Given the description of an element on the screen output the (x, y) to click on. 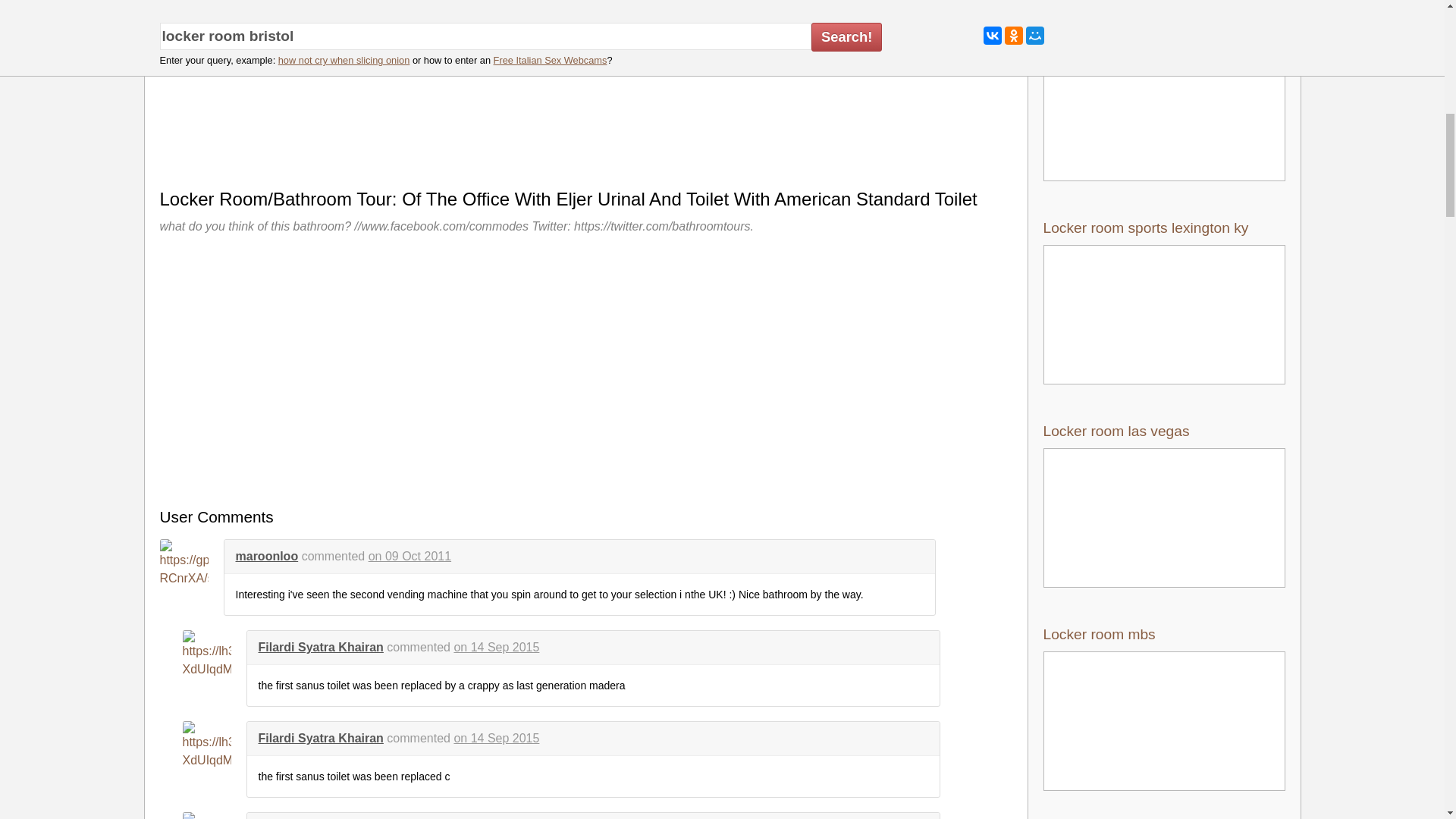
maroonloo (266, 555)
Filardi Syatra Khairan (319, 738)
Filardi Syatra Khairan (319, 646)
Locker room mbs (1164, 708)
Locker room las vegas (1164, 505)
on 14 Sep 2015 (495, 646)
Locker room lex ky (1164, 97)
on 09 Oct 2011 (409, 555)
on 14 Sep 2015 (495, 738)
Locker room sports lexington ky (1164, 301)
